Given the description of an element on the screen output the (x, y) to click on. 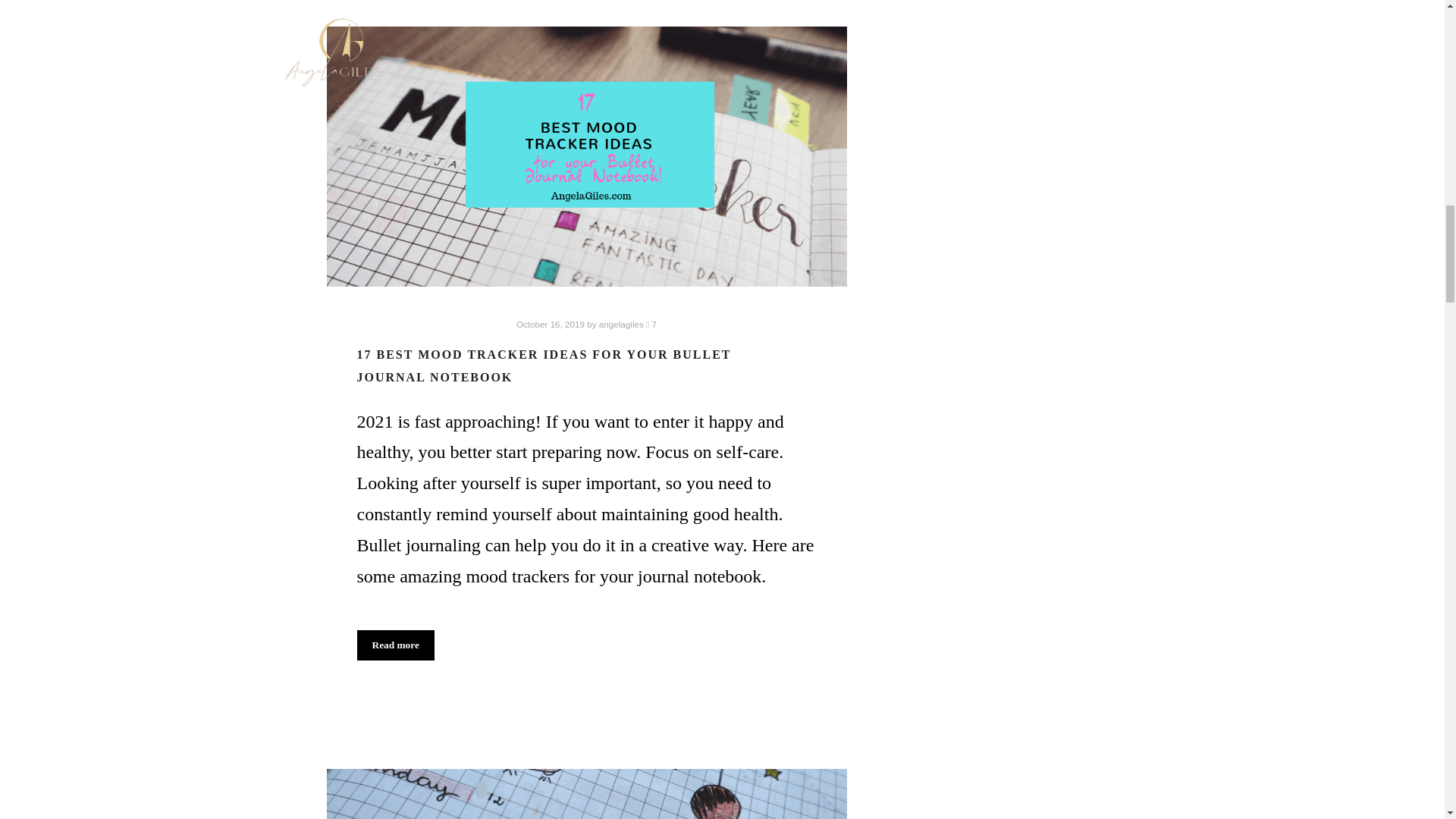
View all posts by angelagiles (620, 324)
